Given the description of an element on the screen output the (x, y) to click on. 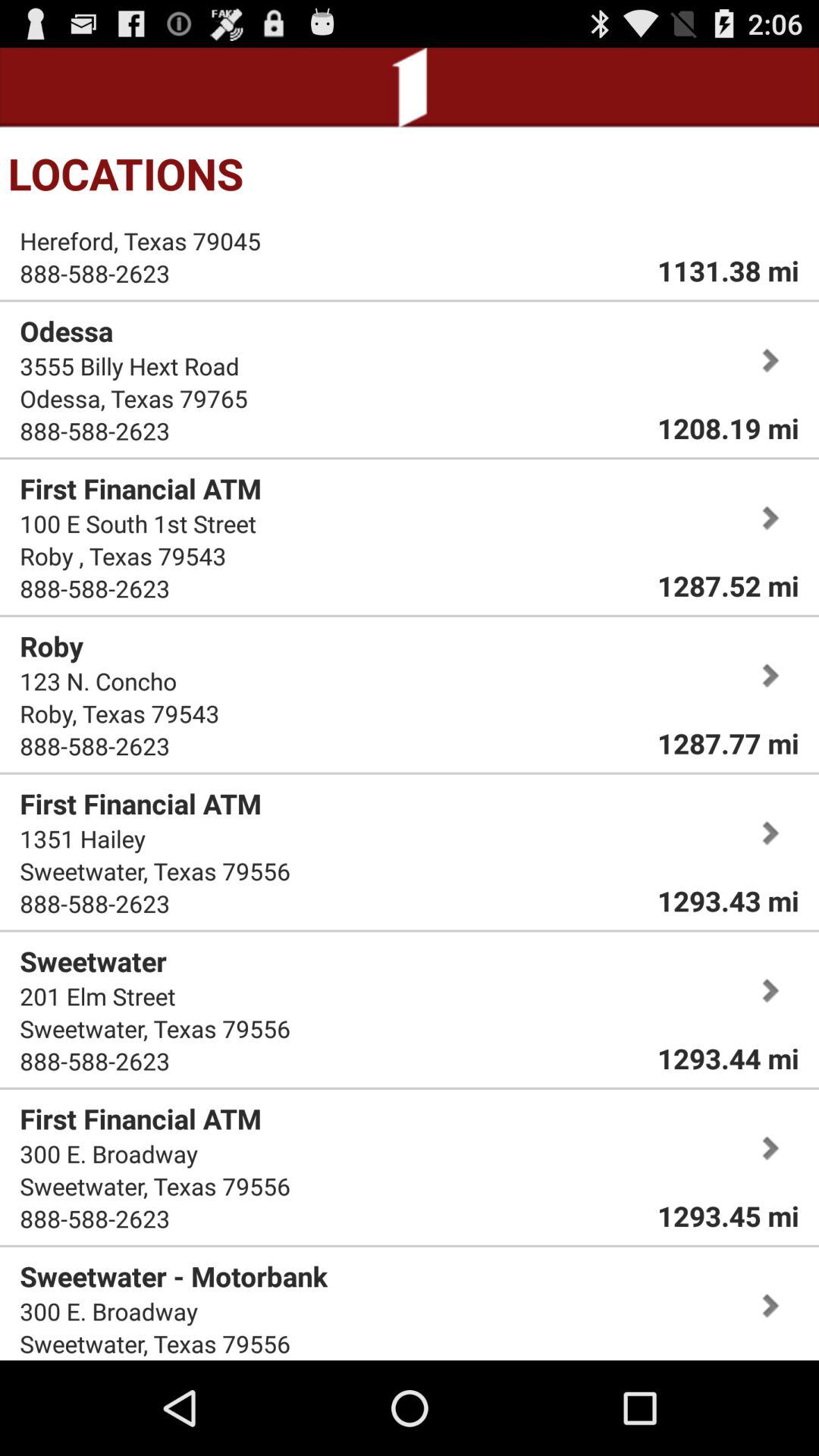
scroll until the 123 n. concho item (97, 680)
